Given the description of an element on the screen output the (x, y) to click on. 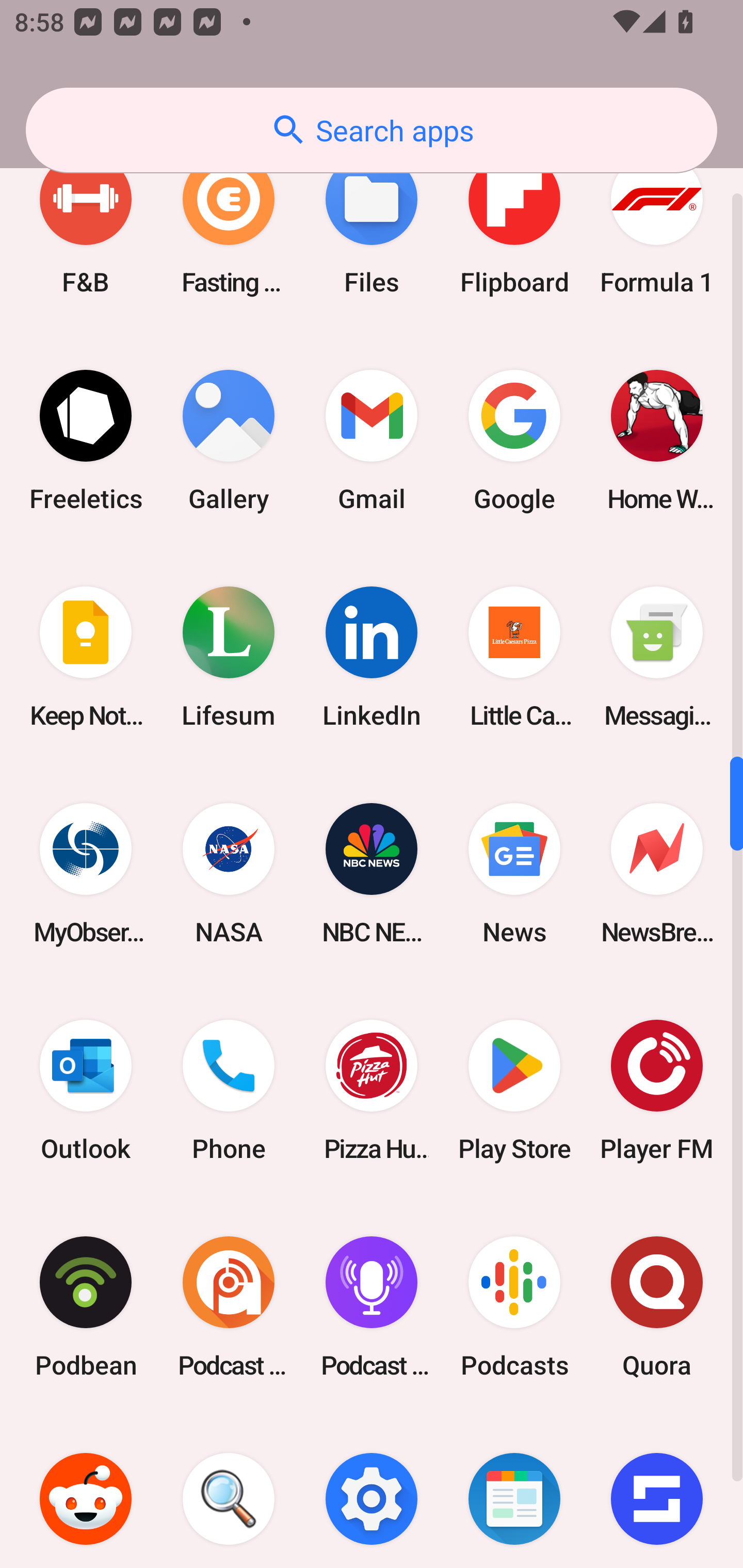
  Search apps (371, 130)
F&B (85, 224)
Fasting Coach (228, 224)
Files (371, 224)
Flipboard (514, 224)
Formula 1 (656, 224)
Freeletics (85, 440)
Gallery (228, 440)
Gmail (371, 440)
Google (514, 440)
Home Workout (656, 440)
Keep Notes (85, 656)
Lifesum (228, 656)
LinkedIn (371, 656)
Little Caesars Pizza (514, 656)
Messaging (656, 656)
MyObservatory (85, 873)
NASA (228, 873)
NBC NEWS (371, 873)
News (514, 873)
NewsBreak (656, 873)
Outlook (85, 1089)
Phone (228, 1089)
Pizza Hut HK & Macau (371, 1089)
Play Store (514, 1089)
Player FM (656, 1089)
Podbean (85, 1306)
Podcast Addict (228, 1306)
Podcast Player (371, 1306)
Podcasts (514, 1306)
Quora (656, 1306)
Reddit (85, 1491)
Search (228, 1491)
Settings (371, 1491)
SmartNews (514, 1491)
Sofascore (656, 1491)
